Given the description of an element on the screen output the (x, y) to click on. 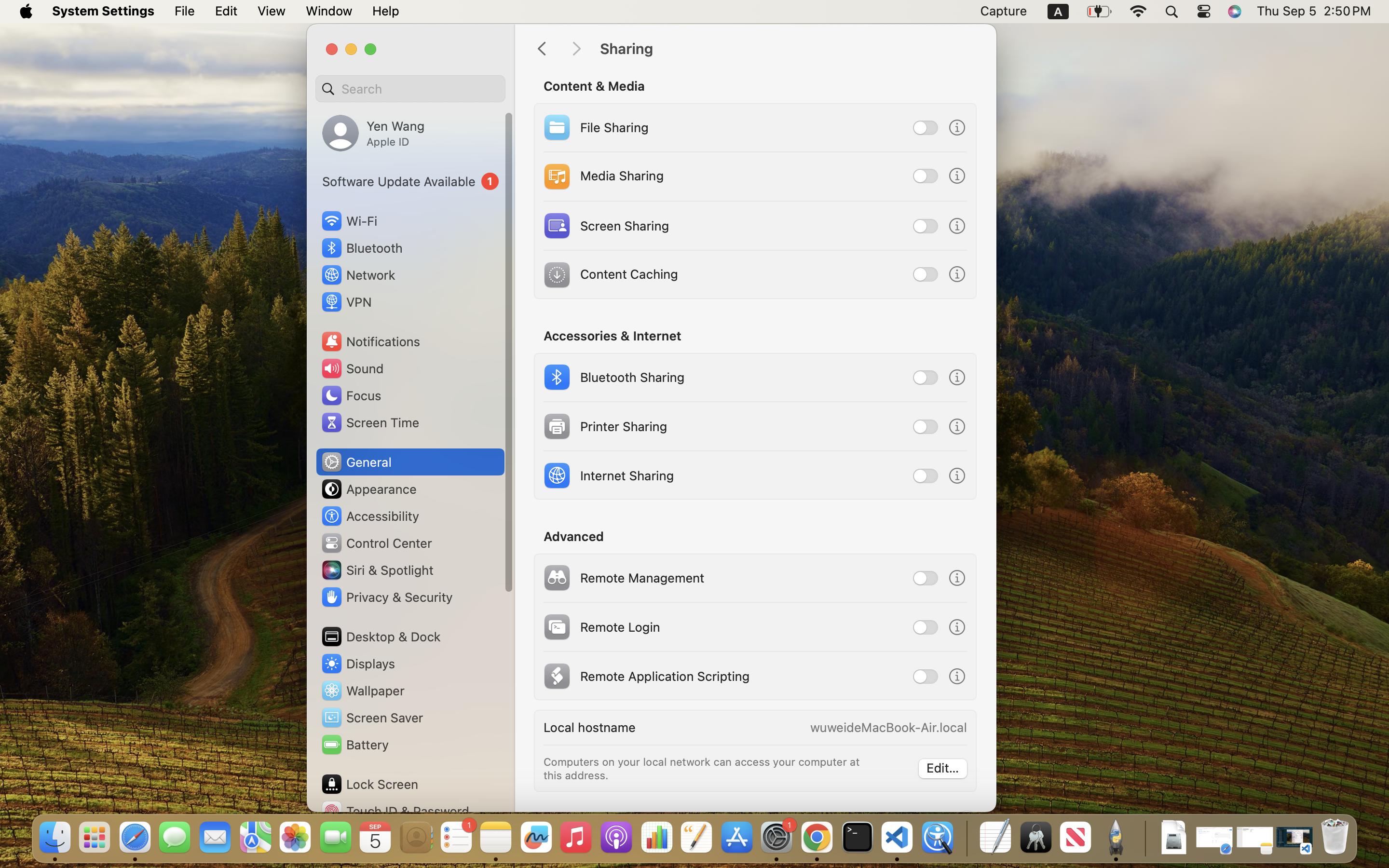
Remote Login Element type: AXStaticText (600, 626)
Bluetooth Sharing Element type: AXStaticText (612, 376)
Siri & Spotlight Element type: AXStaticText (376, 569)
Privacy & Security Element type: AXStaticText (386, 596)
